Given the description of an element on the screen output the (x, y) to click on. 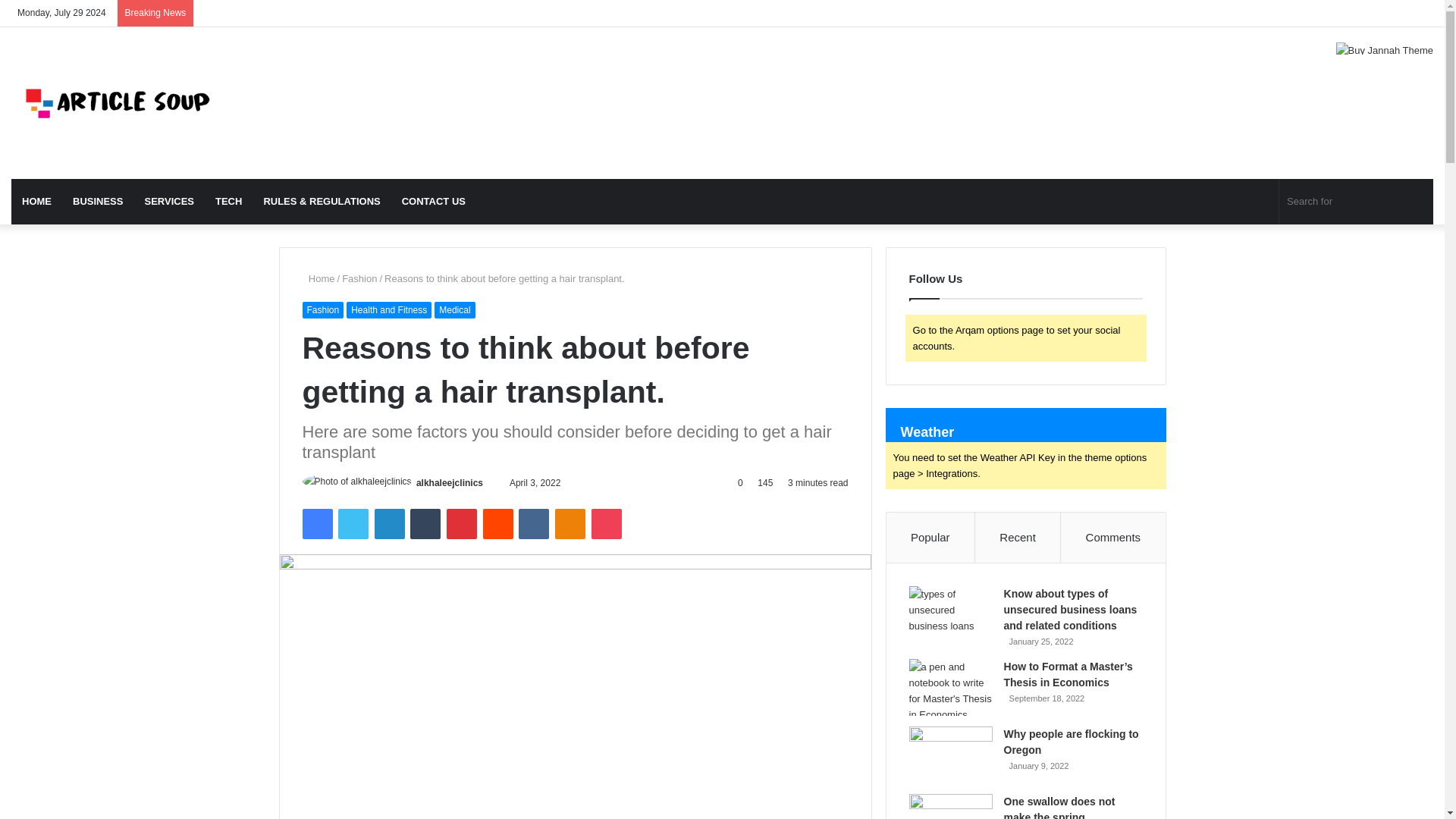
Search for (1355, 201)
CONTACT US (433, 201)
Tumblr (425, 523)
Fashion (359, 278)
Medical (453, 310)
Twitter (352, 523)
BUSINESS (97, 201)
LinkedIn (389, 523)
Home (317, 278)
Pinterest (461, 523)
Fashion (322, 310)
TECH (228, 201)
alkhaleejclinics (449, 482)
SERVICES (169, 201)
Article Soup (117, 102)
